Given the description of an element on the screen output the (x, y) to click on. 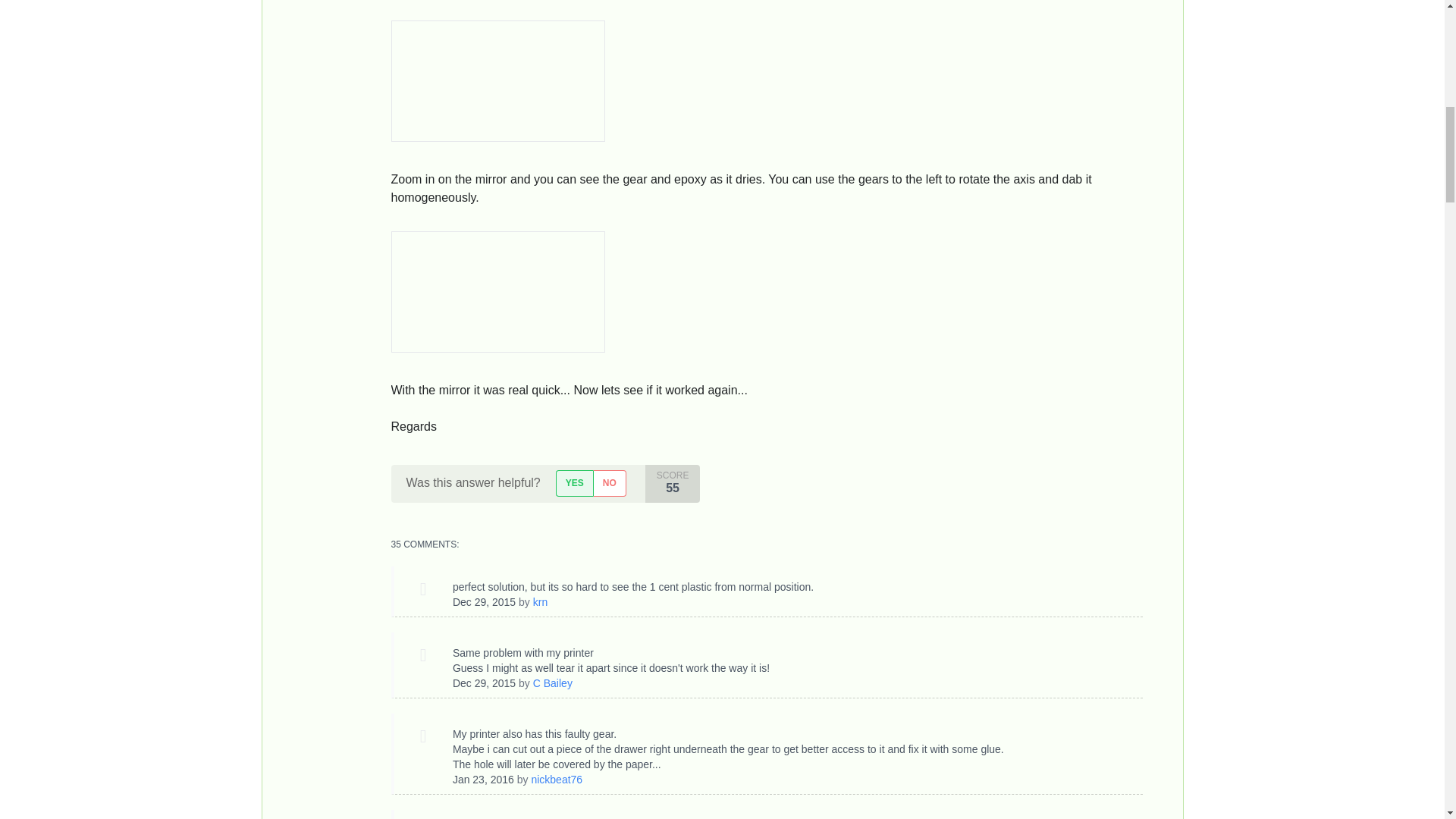
Tue, 29 Dec 2015 16:21:28 -0700 (483, 602)
Sat, 23 Jan 2016 15:18:34 -0700 (482, 779)
Tue, 29 Dec 2015 16:39:21 -0700 (483, 683)
